Given the description of an element on the screen output the (x, y) to click on. 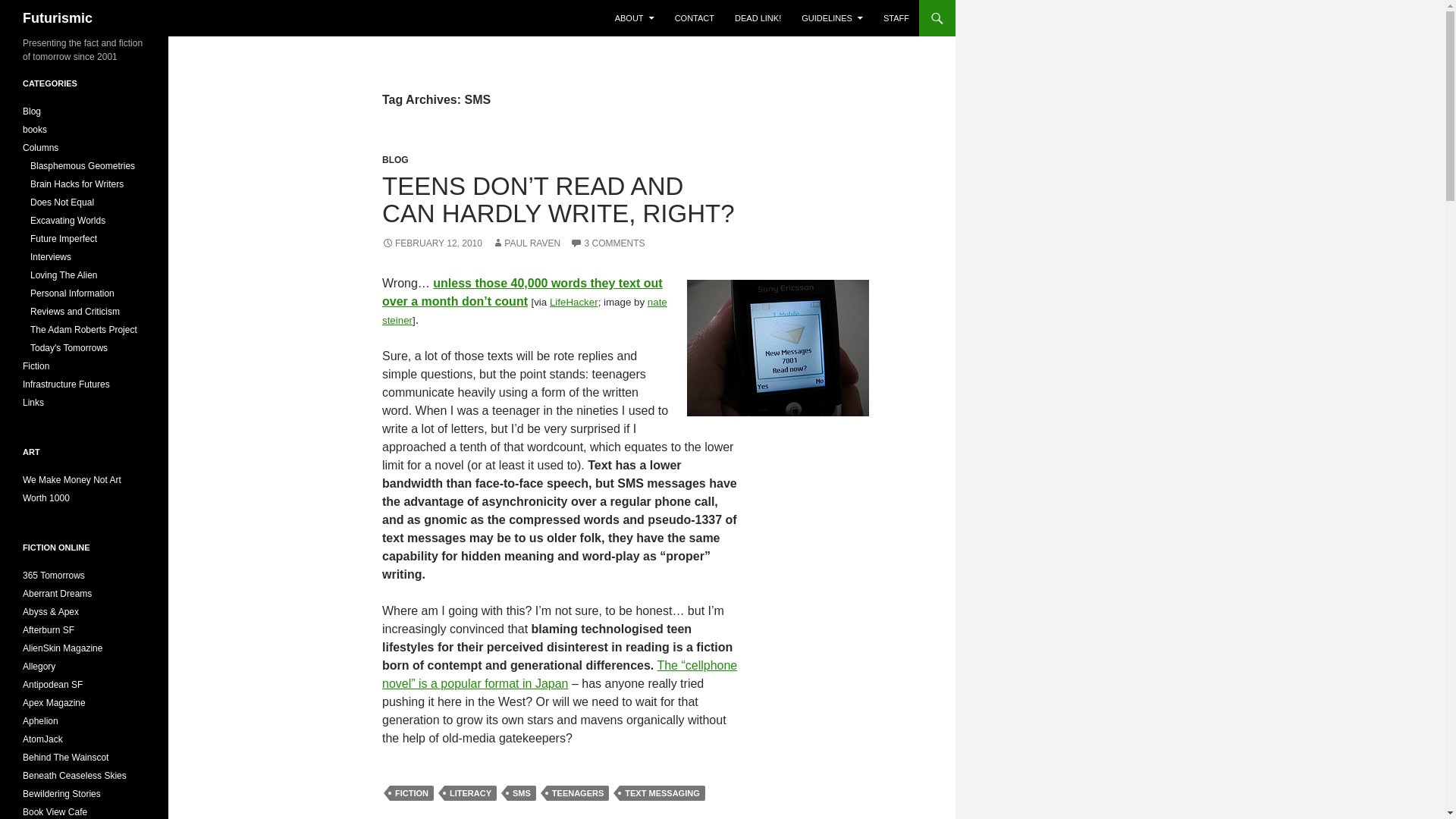
Remains of the day - LifeHacker (574, 301)
Brain Hacks for Writers (76, 184)
Personal Information (72, 293)
LITERACY (470, 792)
Texting is the scourge of this generation - Gizmodo (521, 291)
TEENAGERS (577, 792)
nate steiner on Flickr (523, 310)
CONTACT (694, 18)
Reviews and Criticism (74, 311)
